Given the description of an element on the screen output the (x, y) to click on. 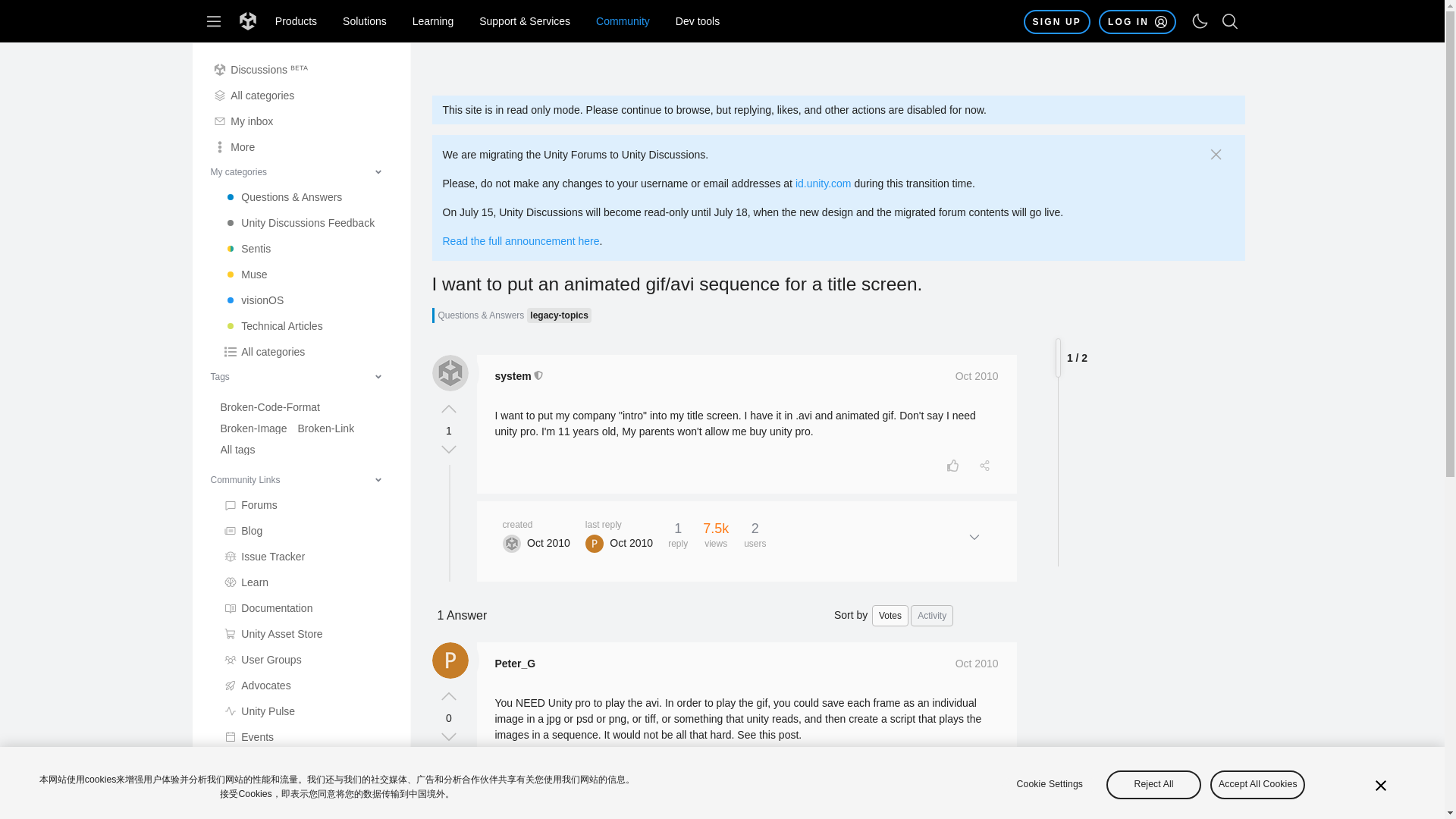
Products (295, 21)
Unity logo. (247, 21)
Unity Asset Store (306, 633)
Forums (306, 504)
Blog (306, 530)
Sidebar (213, 21)
Toggle section (296, 376)
Toggle color scheme (1199, 21)
Learn (306, 582)
SIGN UP (1056, 21)
Play (306, 810)
Search (1229, 20)
My categories (296, 171)
Creator Spotlight (306, 762)
Documentation (306, 607)
